Given the description of an element on the screen output the (x, y) to click on. 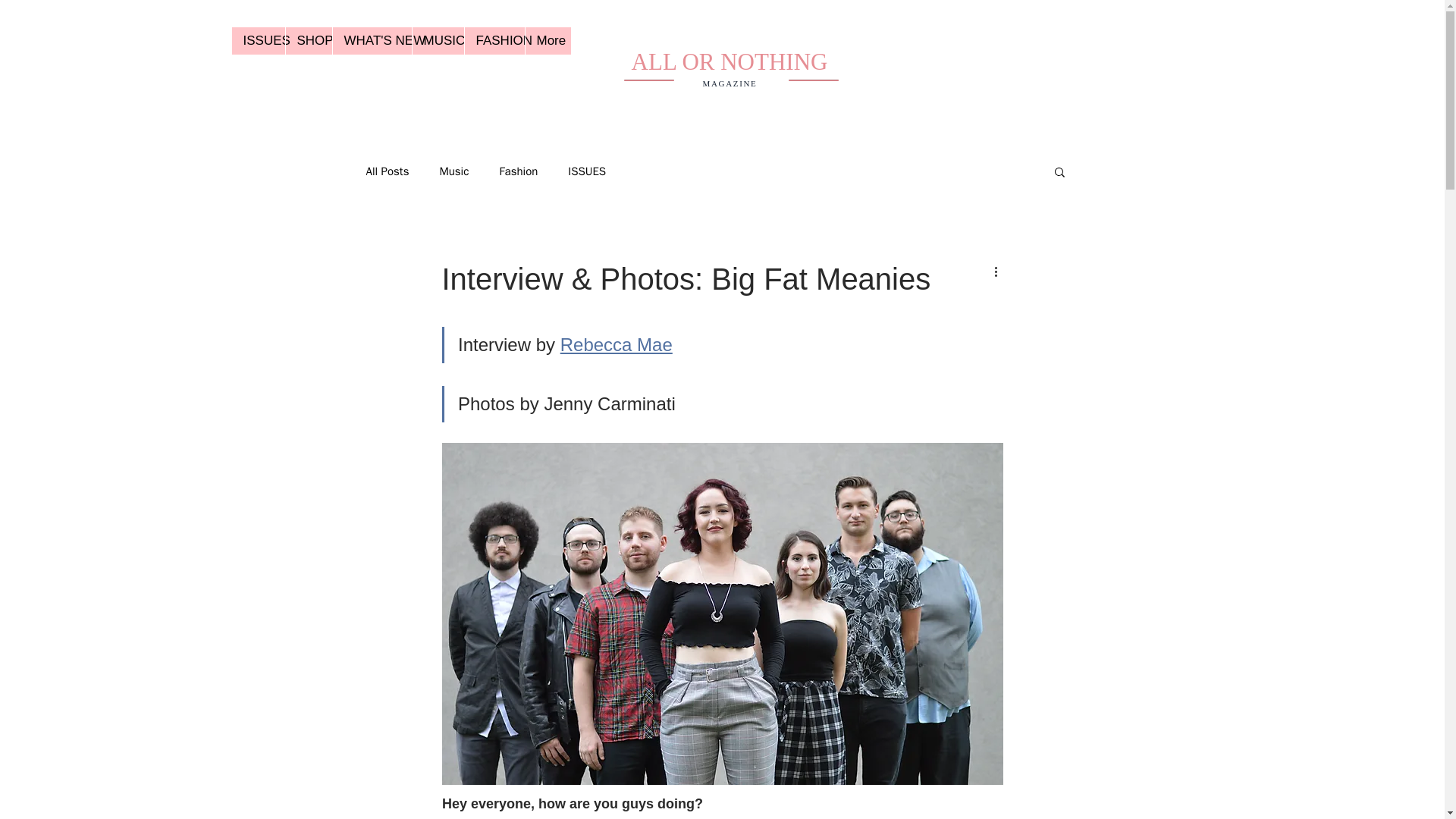
WHAT'S NEW (371, 40)
FASHION (494, 40)
MUSIC (436, 40)
All Posts (387, 170)
MAGAZINE (730, 82)
SHOP (308, 40)
Rebecca Mae (615, 344)
ALL OR NOTHING (729, 61)
Music (453, 170)
ISSUES (258, 40)
Fashion (518, 170)
ISSUES (586, 170)
